Given the description of an element on the screen output the (x, y) to click on. 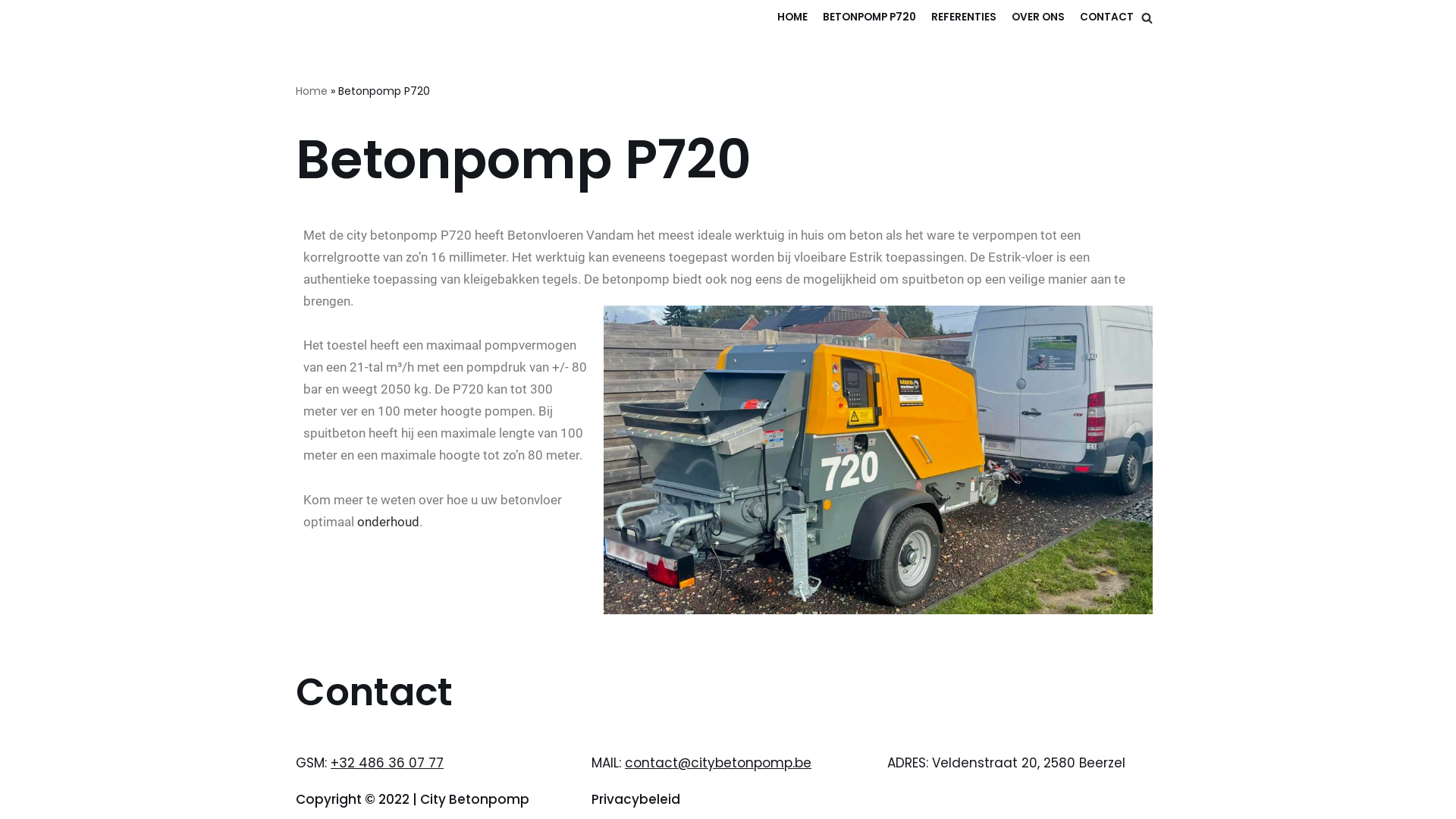
BETONPOMP P720 Element type: text (869, 17)
Home Element type: text (311, 90)
REFERENTIES Element type: text (963, 17)
HOME Element type: text (792, 17)
Privacybeleid Element type: text (635, 799)
CONTACT Element type: text (1106, 17)
Meteen naar de inhoud Element type: text (11, 31)
onderhoud Element type: text (388, 521)
contact@citybetonpomp.be Element type: text (717, 762)
OVER ONS Element type: text (1037, 17)
+32 486 36 07 77 Element type: text (386, 762)
